Given the description of an element on the screen output the (x, y) to click on. 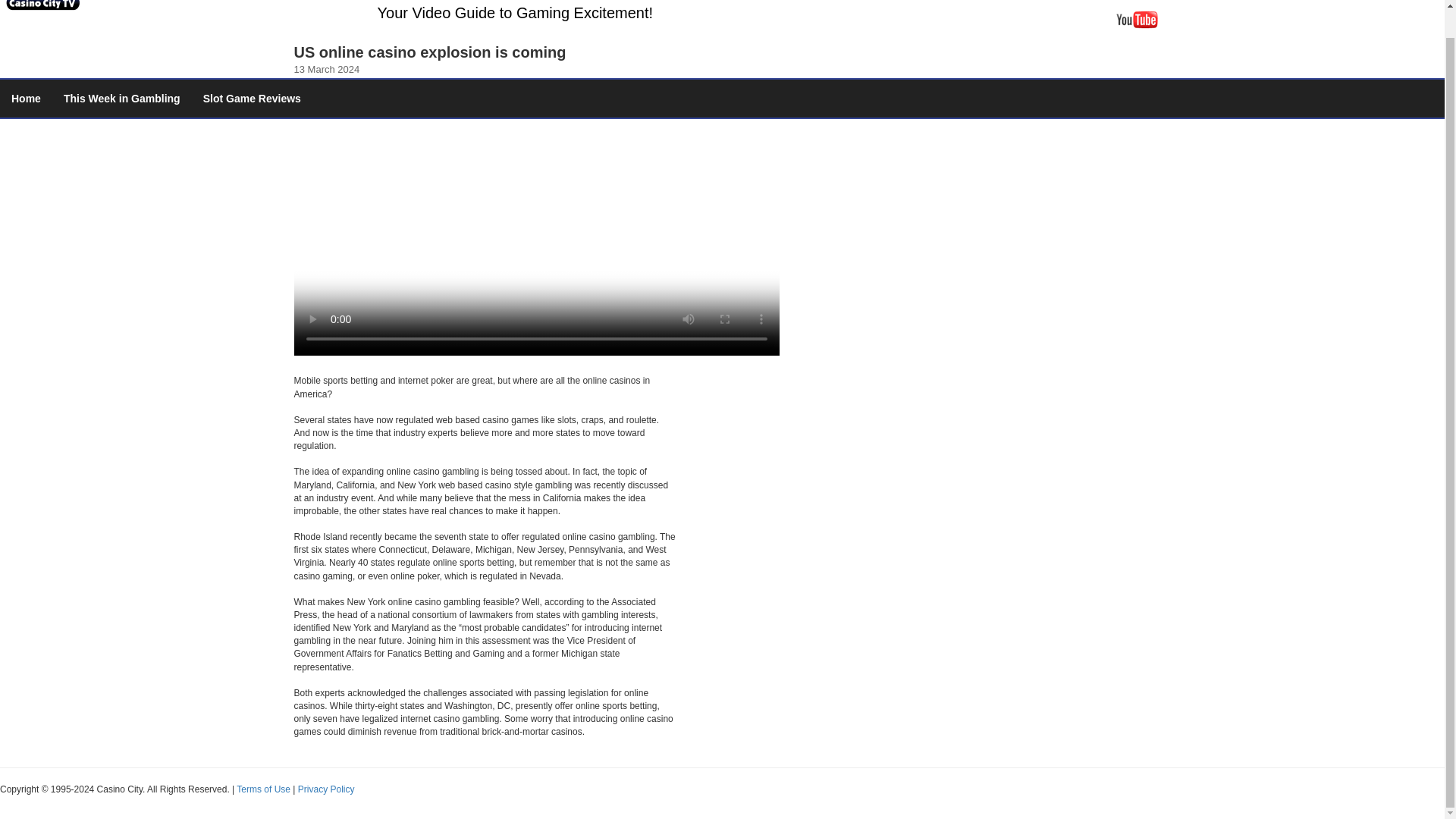
Terms of Use (262, 788)
Home (26, 98)
Privacy Policy (326, 788)
This Week in Gambling (122, 98)
Slot Game Reviews (252, 98)
